Given the description of an element on the screen output the (x, y) to click on. 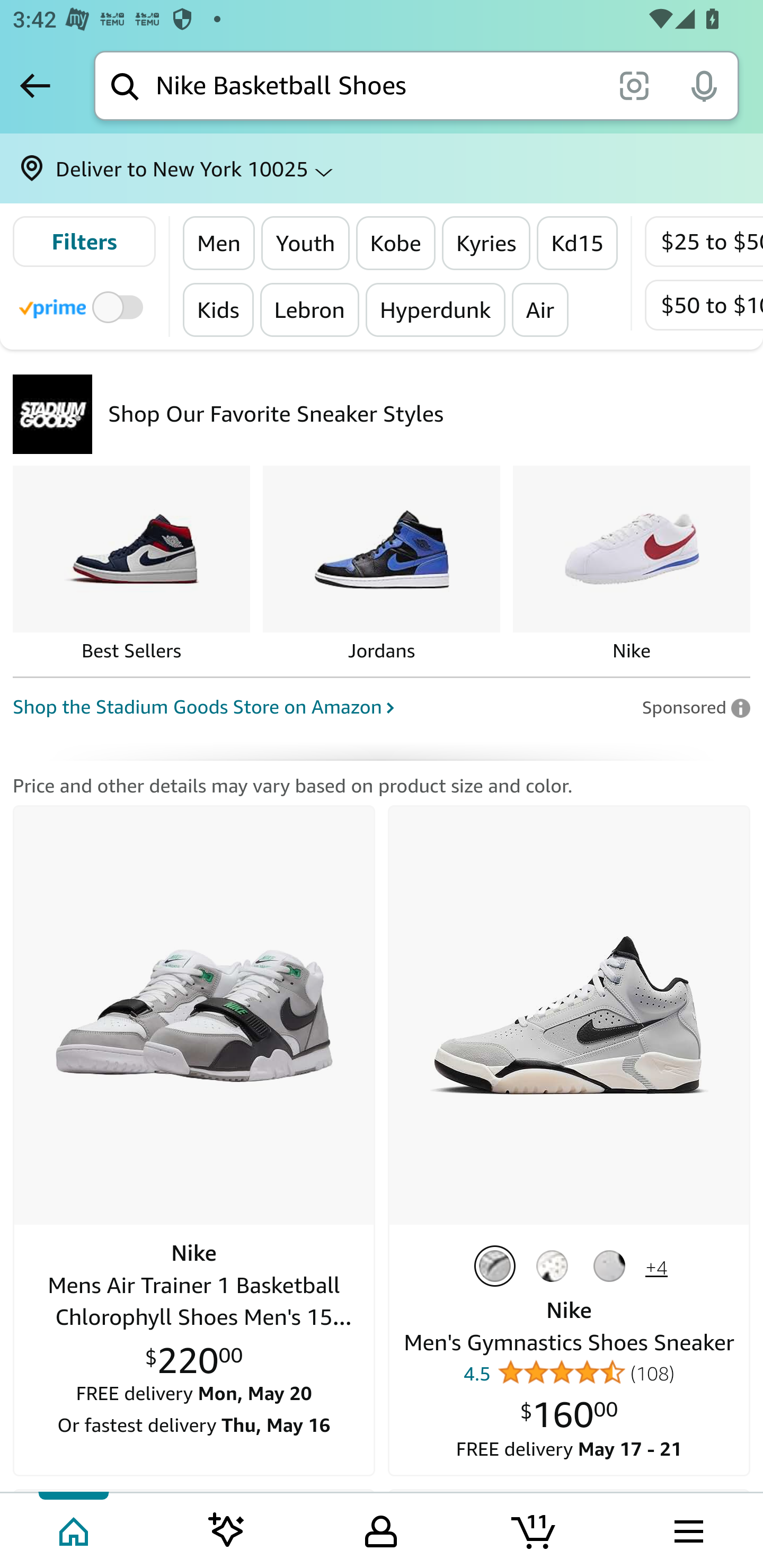
Back (35, 85)
scan it (633, 85)
Deliver to New York 10025 ⌵ (381, 168)
Filters (83, 241)
Men (219, 242)
Youth (304, 242)
Kobe (395, 242)
Kyries (486, 242)
Kd15 (576, 242)
$25 to $50 (703, 241)
Toggle to filter by Prime products Prime Eligible (83, 306)
$50 to $100 (703, 304)
Kids (218, 309)
Lebron (309, 309)
Hyperdunk (434, 309)
Air (539, 309)
Go to store page for "Best Sellers". (131, 564)
